Given the description of an element on the screen output the (x, y) to click on. 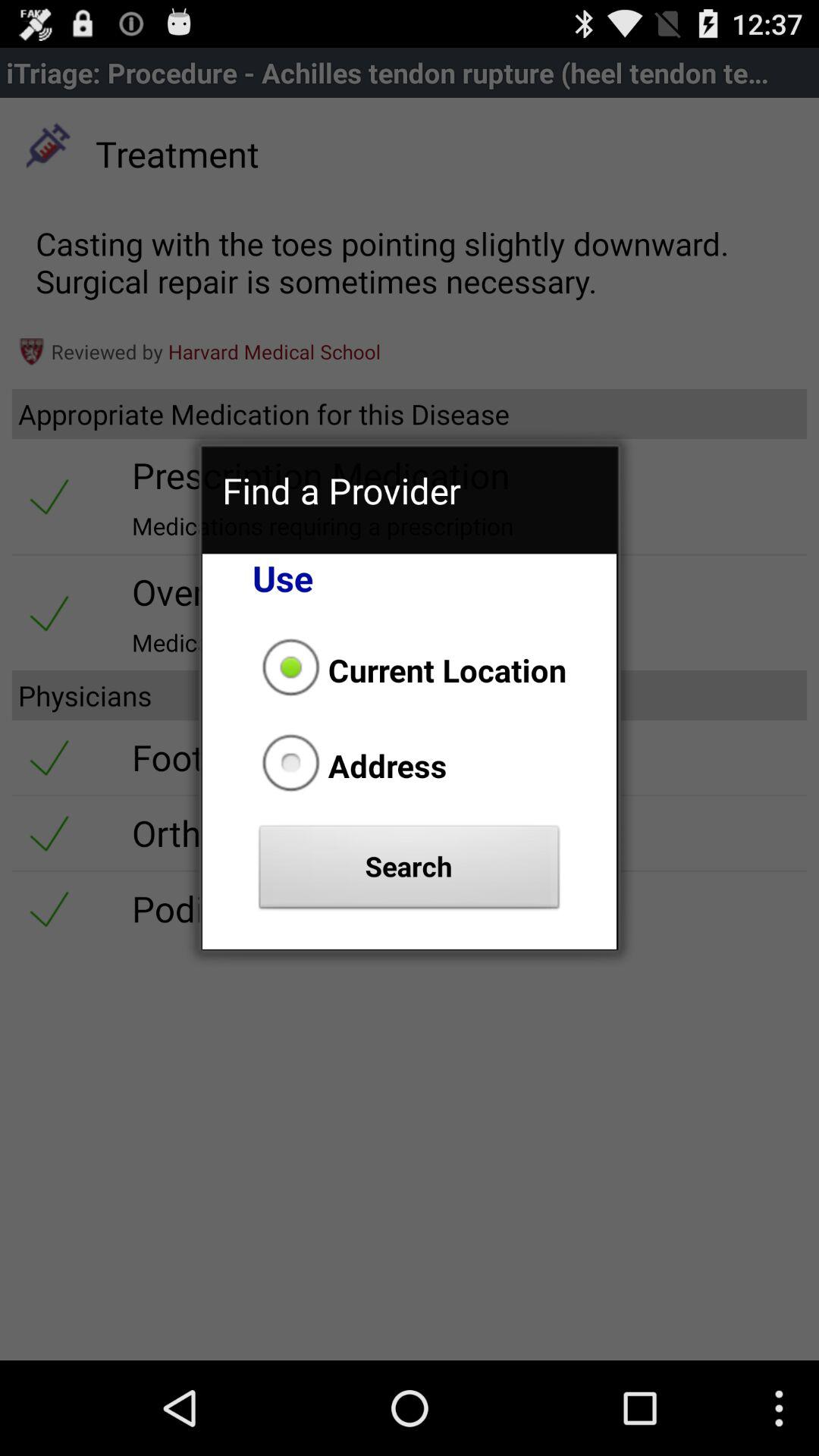
choose current location radio button (409, 669)
